Given the description of an element on the screen output the (x, y) to click on. 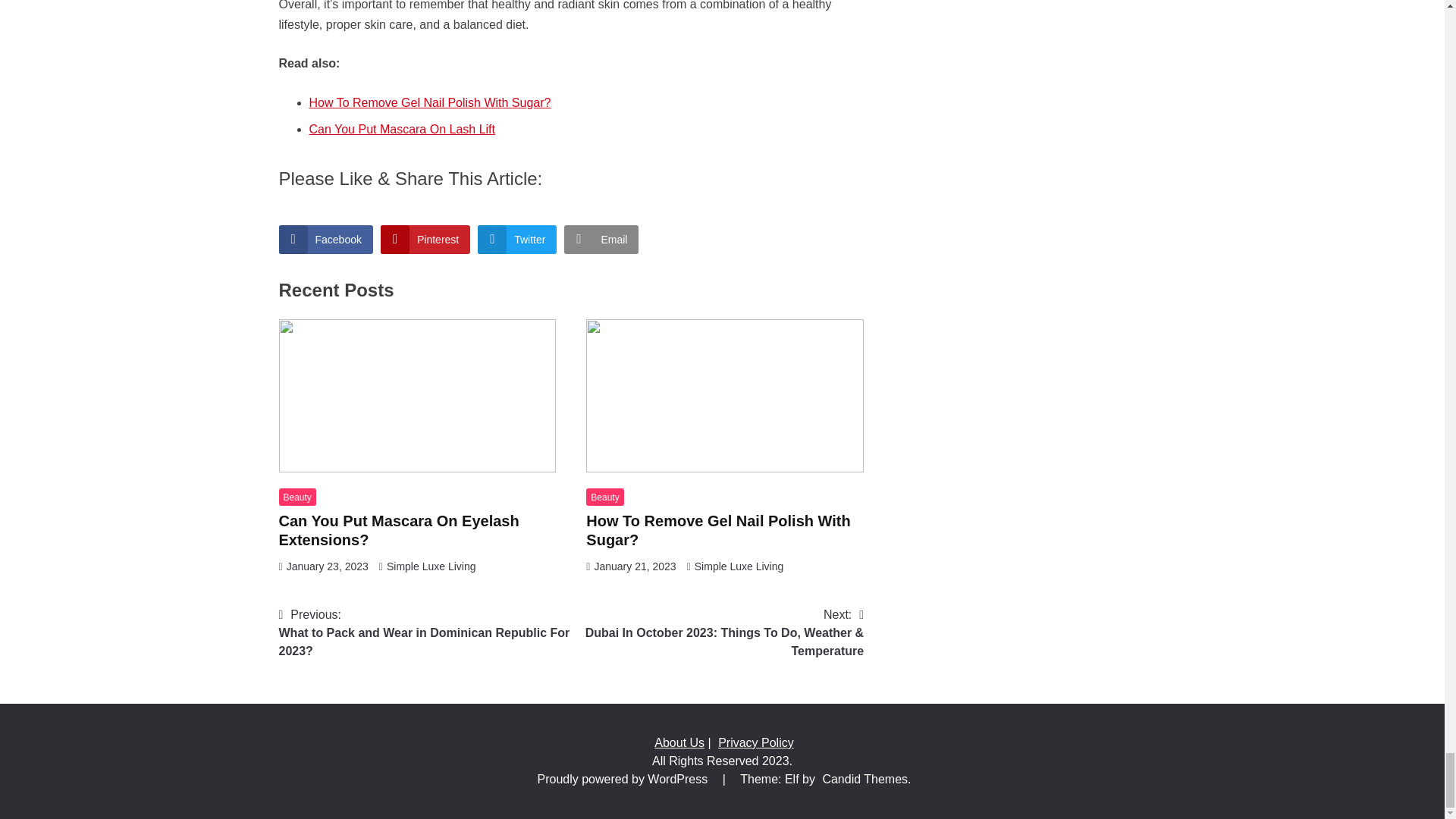
Simple Luxe Living (431, 566)
Beauty (604, 497)
Twitter (516, 239)
Facebook (325, 239)
How To Remove Gel Nail Polish With Sugar? (429, 102)
Email (601, 239)
Can You Put Mascara On Lash Lift (401, 128)
Pinterest (425, 239)
Can You Put Mascara On Eyelash Extensions? (399, 529)
January 23, 2023 (327, 566)
